Given the description of an element on the screen output the (x, y) to click on. 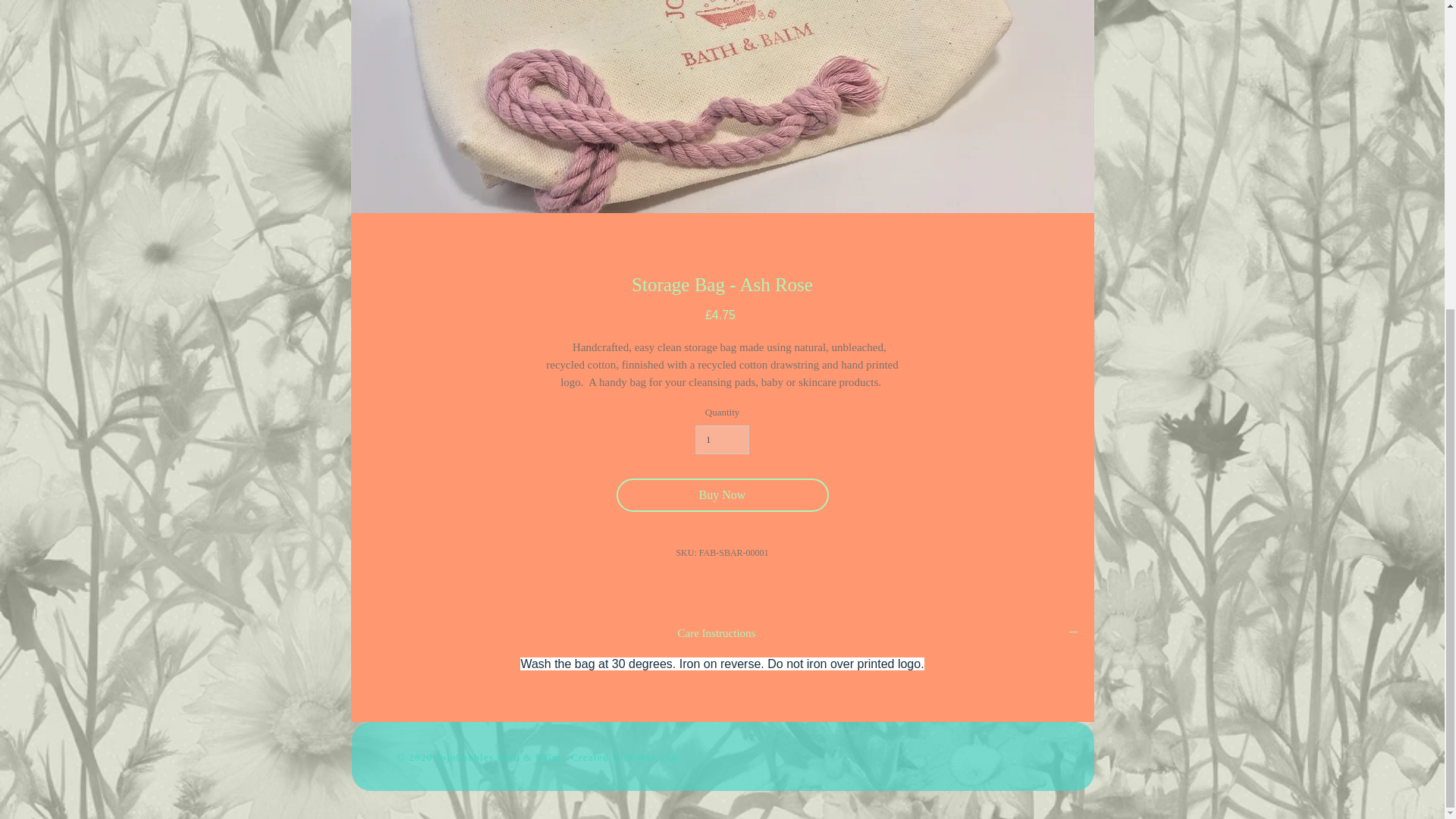
Buy Now (721, 494)
1 (722, 439)
Care Instructions (721, 634)
Wix.com (658, 756)
